Given the description of an element on the screen output the (x, y) to click on. 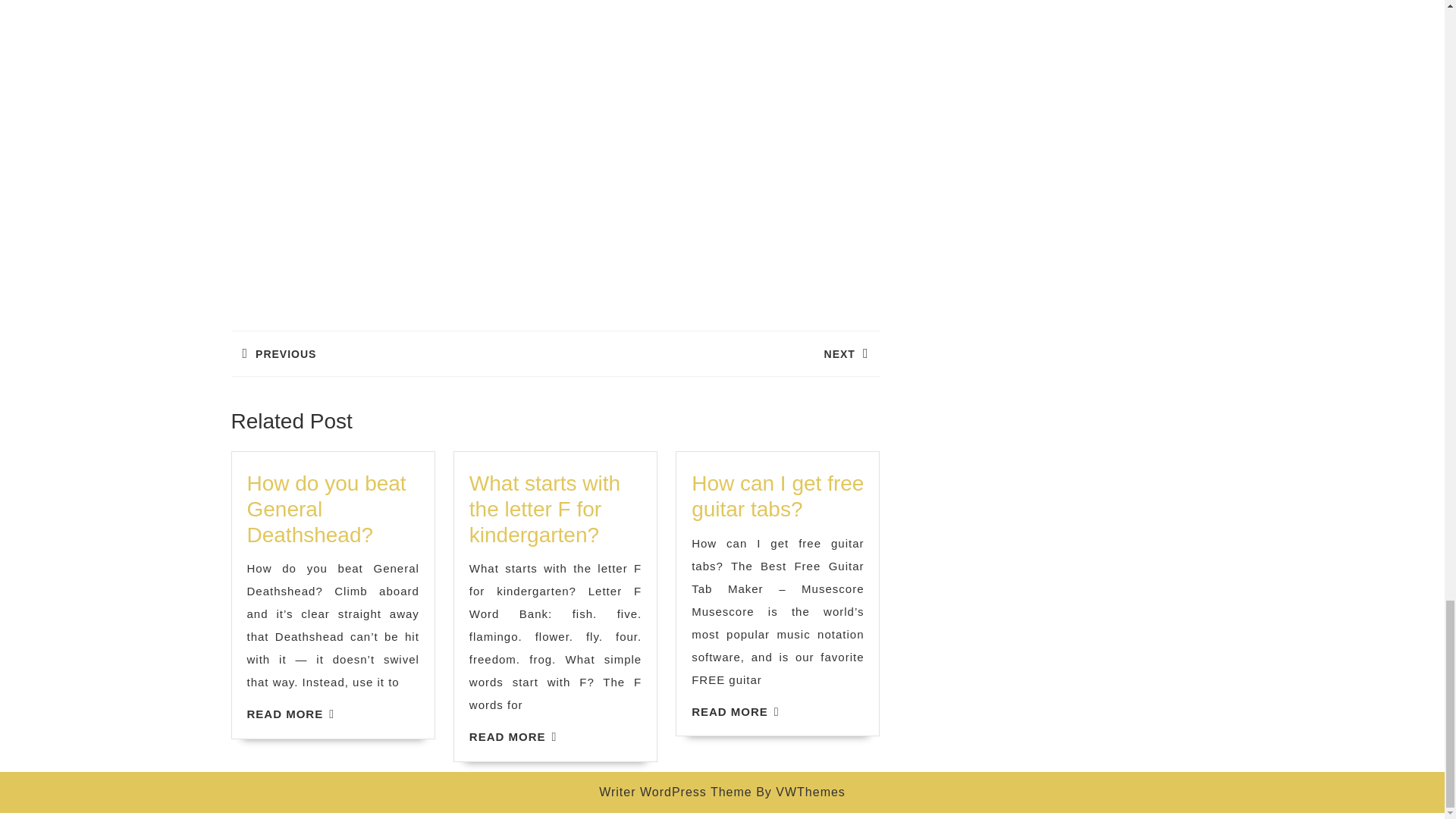
Lightning Rod - Dollywood - FRONT ROW MOUNTED POV IN 4K! (392, 353)
